Given the description of an element on the screen output the (x, y) to click on. 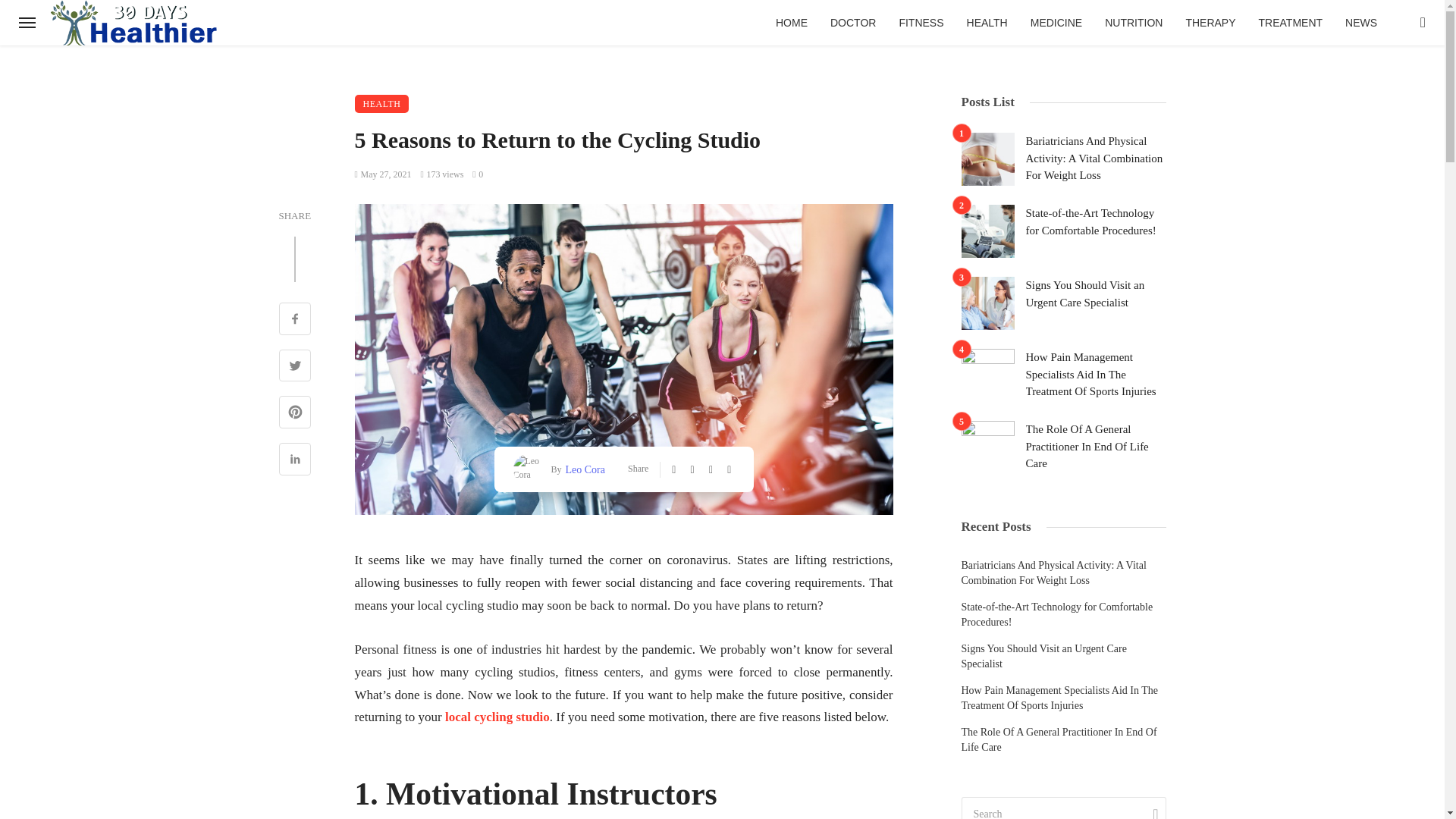
NUTRITION (1133, 22)
THERAPY (1209, 22)
0 (477, 173)
HEALTH (382, 104)
TREATMENT (1291, 22)
Share on Pinterest (295, 413)
local cycling studio (497, 716)
FITNESS (920, 22)
Leo Cora (582, 468)
Share on Linkedin (295, 461)
Posts by Leo Cora (582, 468)
NEWS (1361, 22)
HOME (791, 22)
HEALTH (987, 22)
MEDICINE (1056, 22)
